Given the description of an element on the screen output the (x, y) to click on. 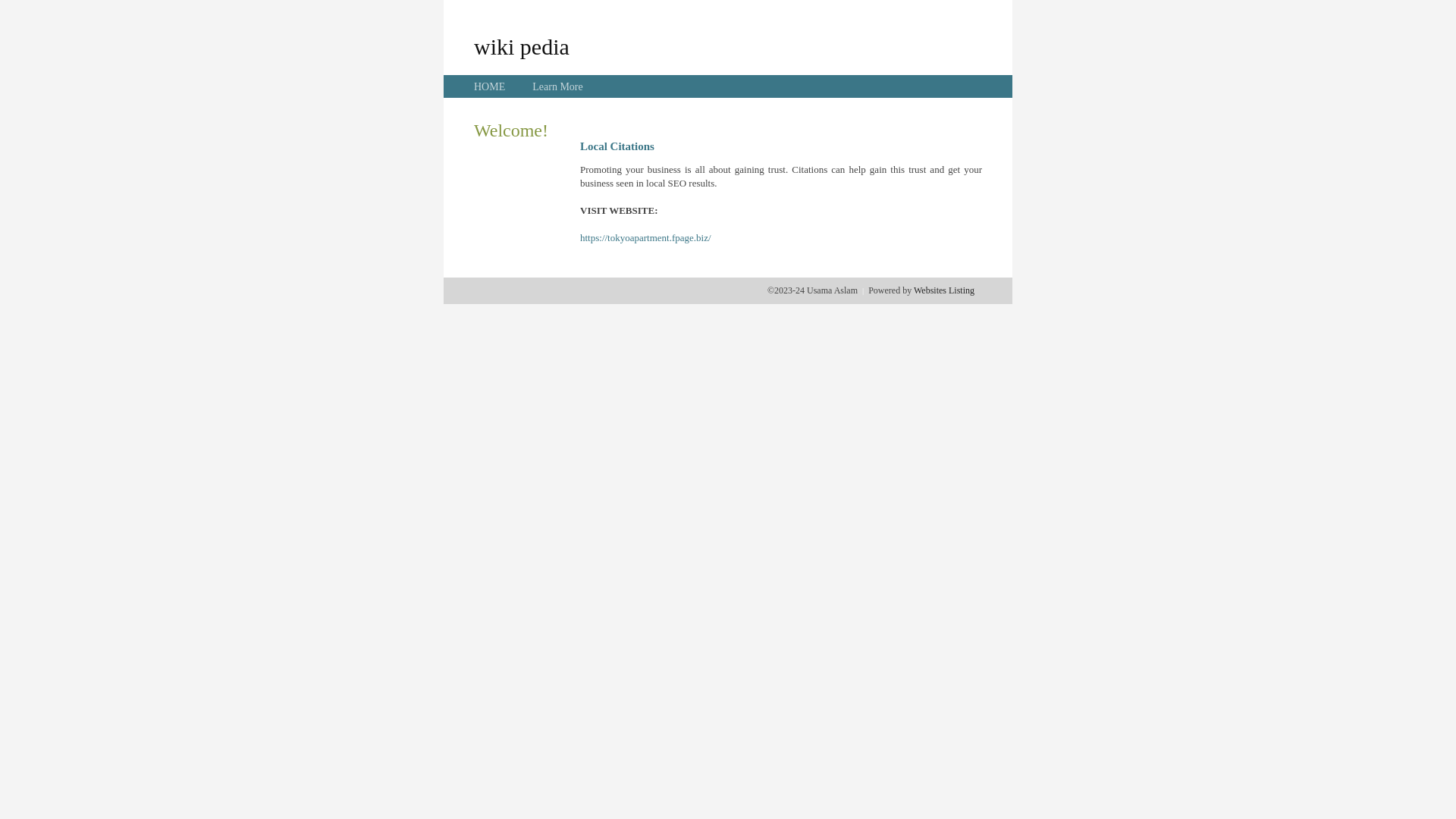
Websites Listing Element type: text (943, 290)
HOME Element type: text (489, 86)
Learn More Element type: text (557, 86)
wiki pedia Element type: text (521, 46)
https://tokyoapartment.fpage.biz/ Element type: text (645, 237)
